Given the description of an element on the screen output the (x, y) to click on. 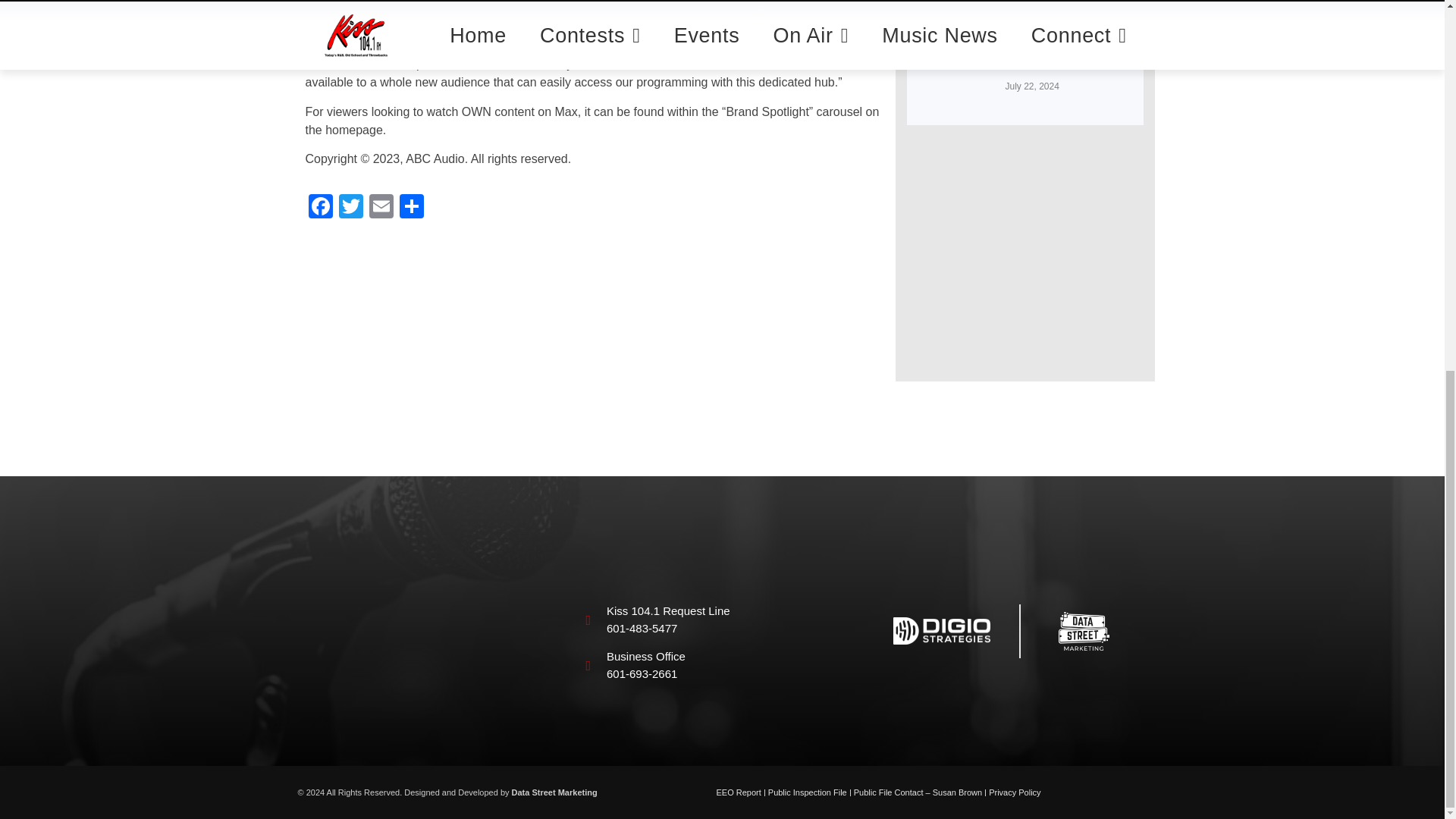
Facebook (319, 207)
Twitter (349, 207)
Email (380, 207)
